Given the description of an element on the screen output the (x, y) to click on. 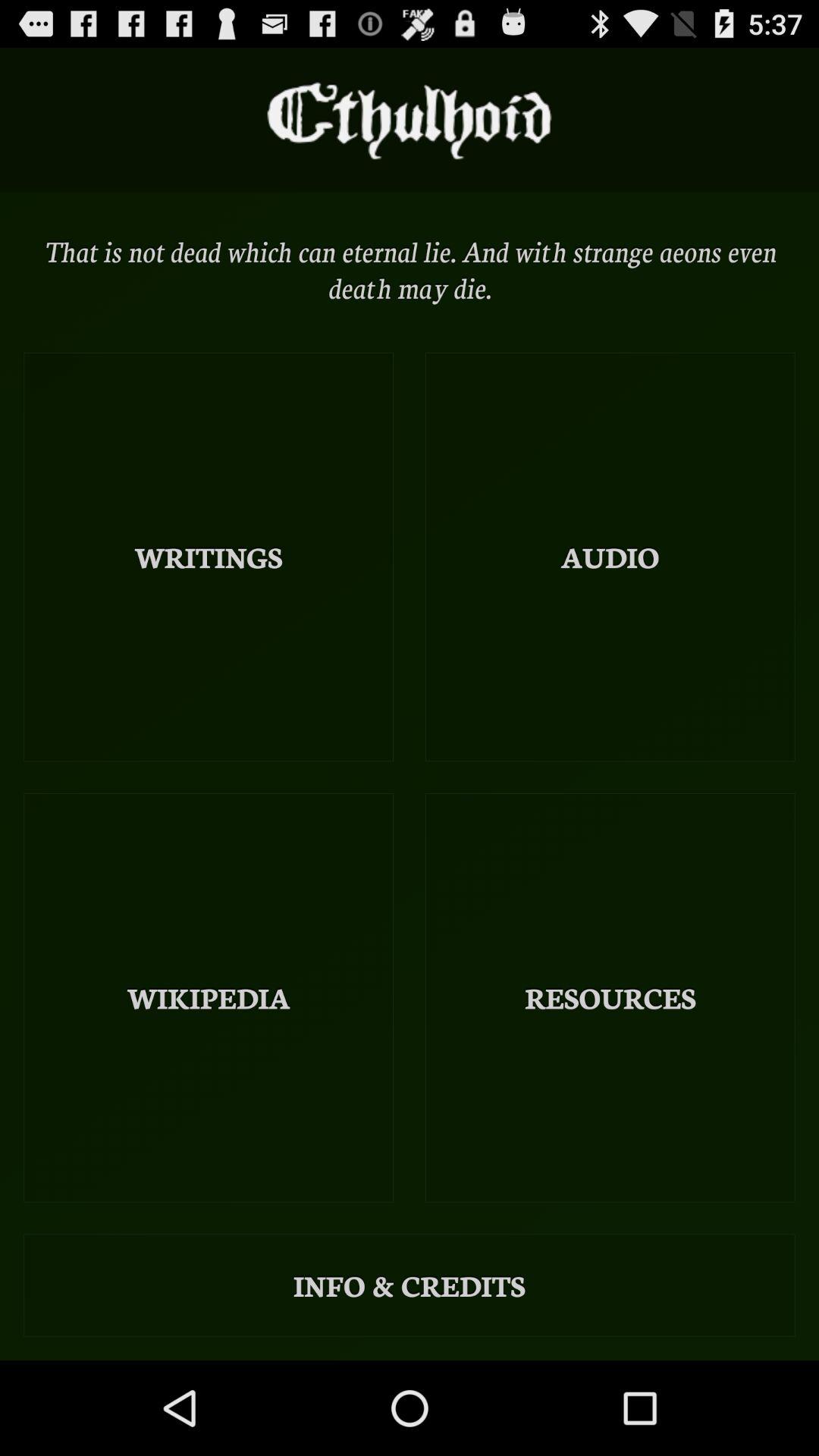
jump to audio icon (610, 556)
